Given the description of an element on the screen output the (x, y) to click on. 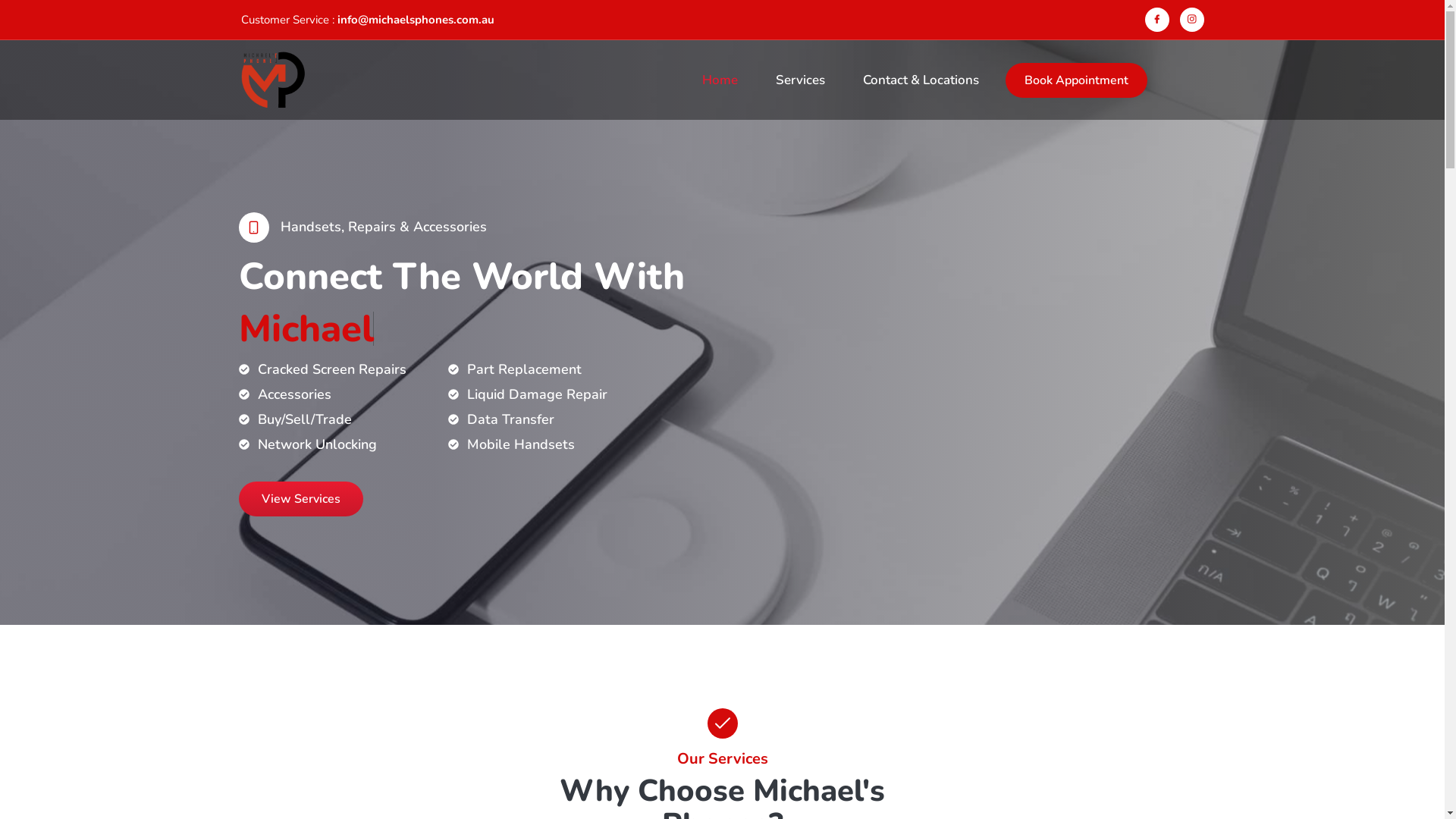
Home Element type: text (719, 79)
Book Appointment Element type: text (1076, 79)
View Services Element type: text (300, 498)
Contact & Locations Element type: text (920, 79)
Services Element type: text (800, 79)
